Given the description of an element on the screen output the (x, y) to click on. 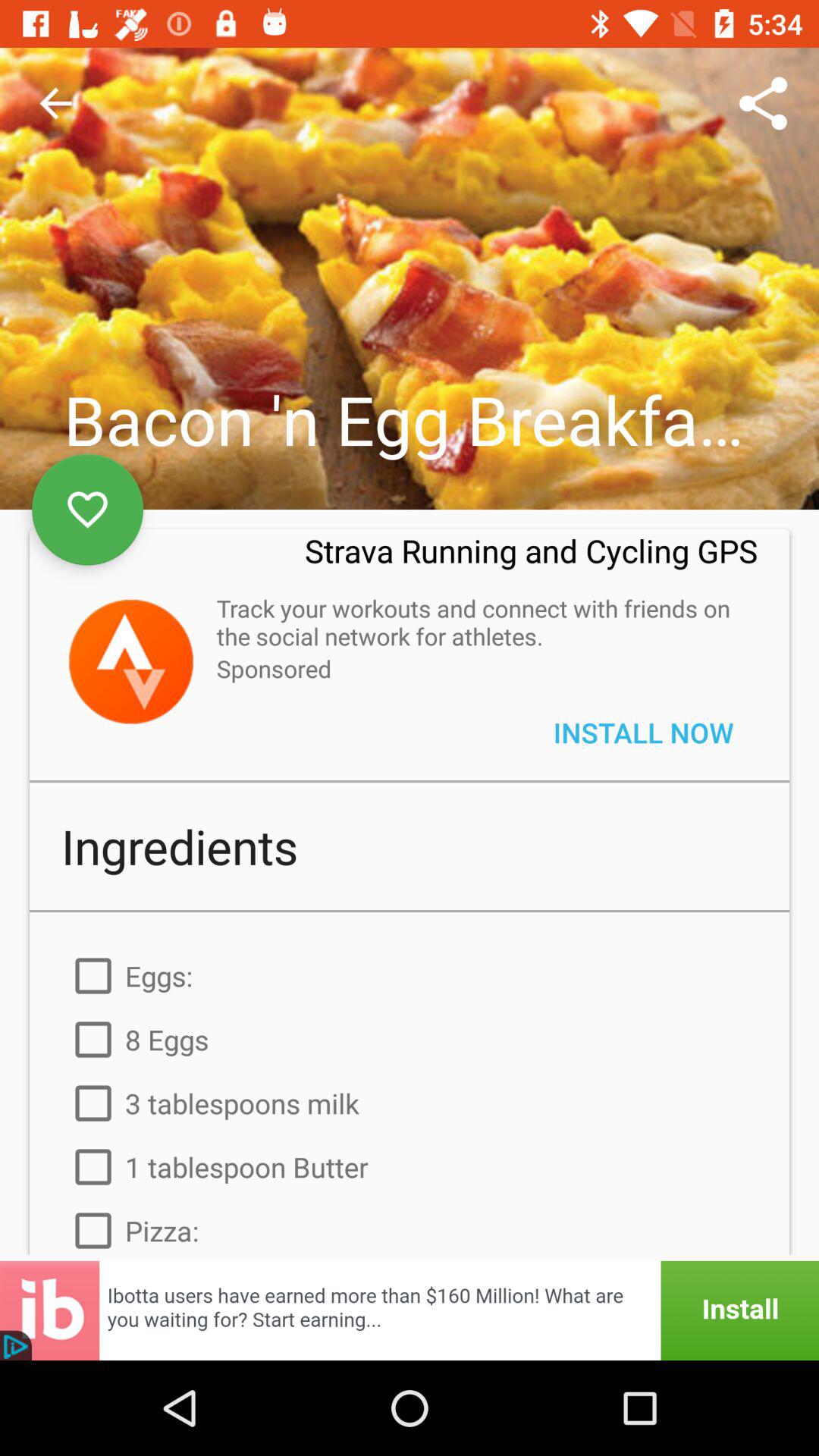
love recipe (87, 509)
